Given the description of an element on the screen output the (x, y) to click on. 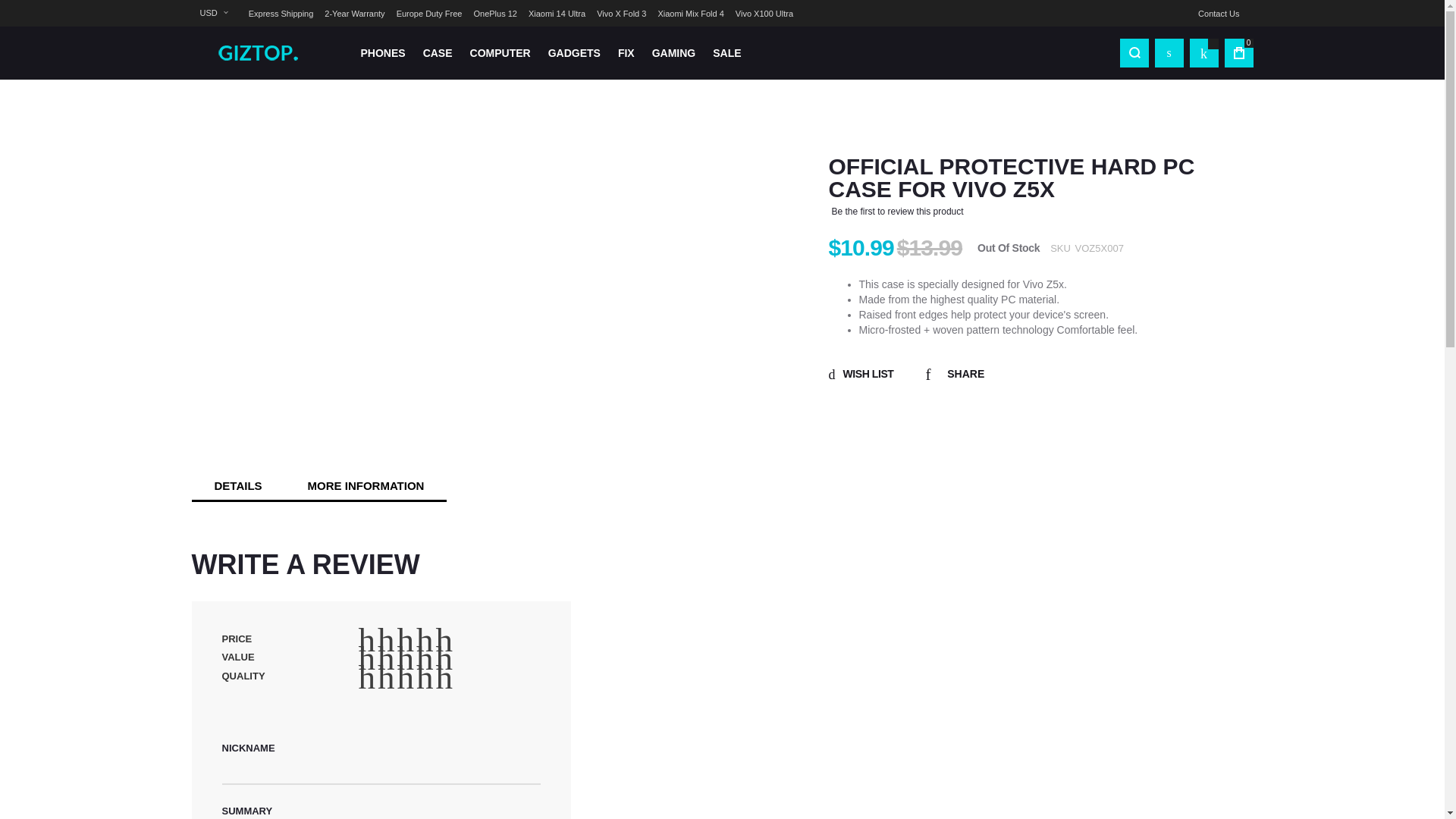
1 star (367, 677)
Europe Duty Free (429, 13)
4 stars (396, 658)
2 stars (377, 677)
3 stars (387, 677)
Contact Us (1218, 13)
